Given the description of an element on the screen output the (x, y) to click on. 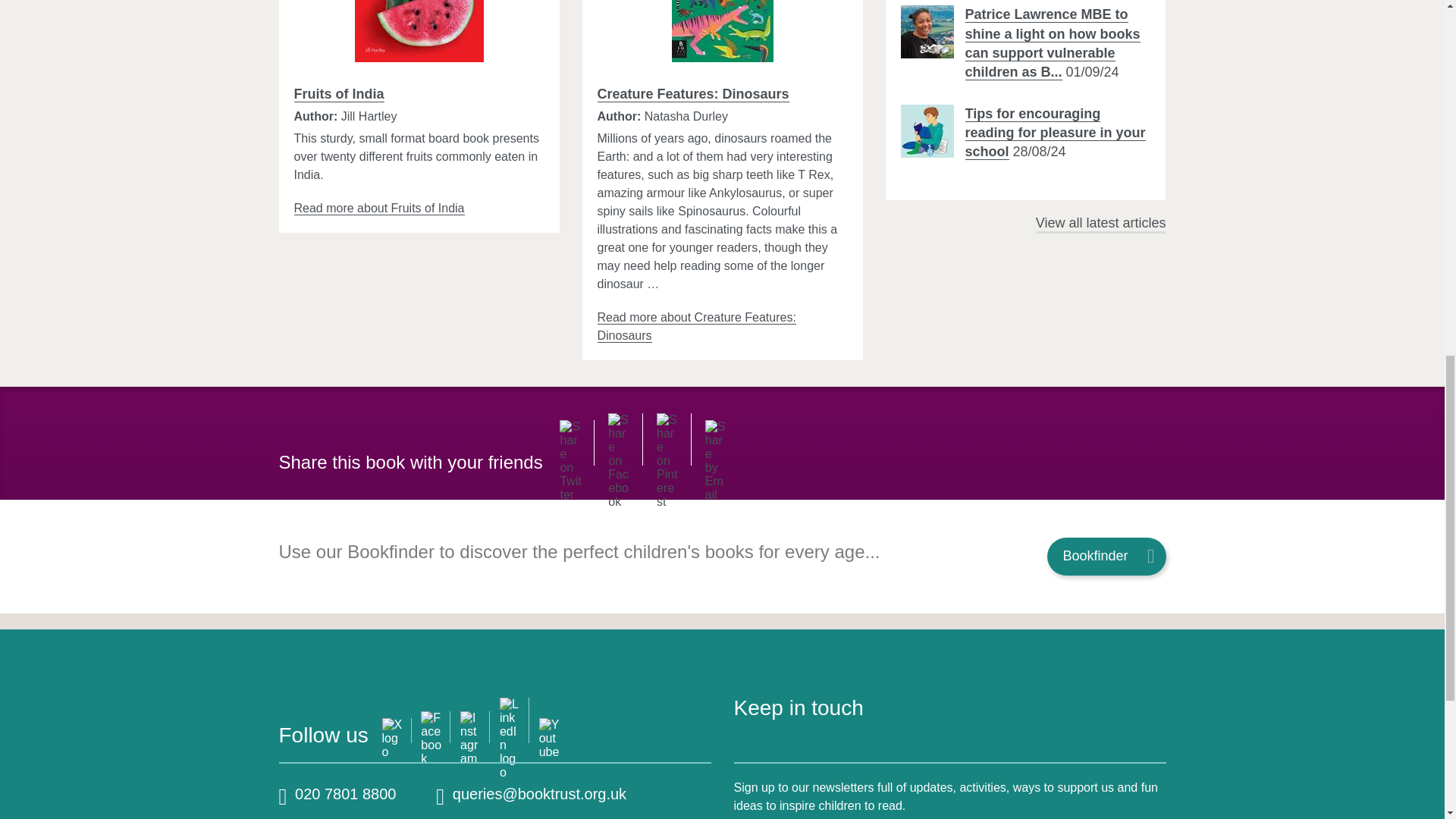
Creature Features: Dinosaurs (722, 31)
Creature Features: Dinosaurs (692, 94)
Creature Features: Dinosaurs (696, 327)
Tips for encouraging reading for pleasure in your school (927, 131)
Fruits of India (419, 31)
Fruits of India (339, 94)
Fruits of India (379, 208)
